Given the description of an element on the screen output the (x, y) to click on. 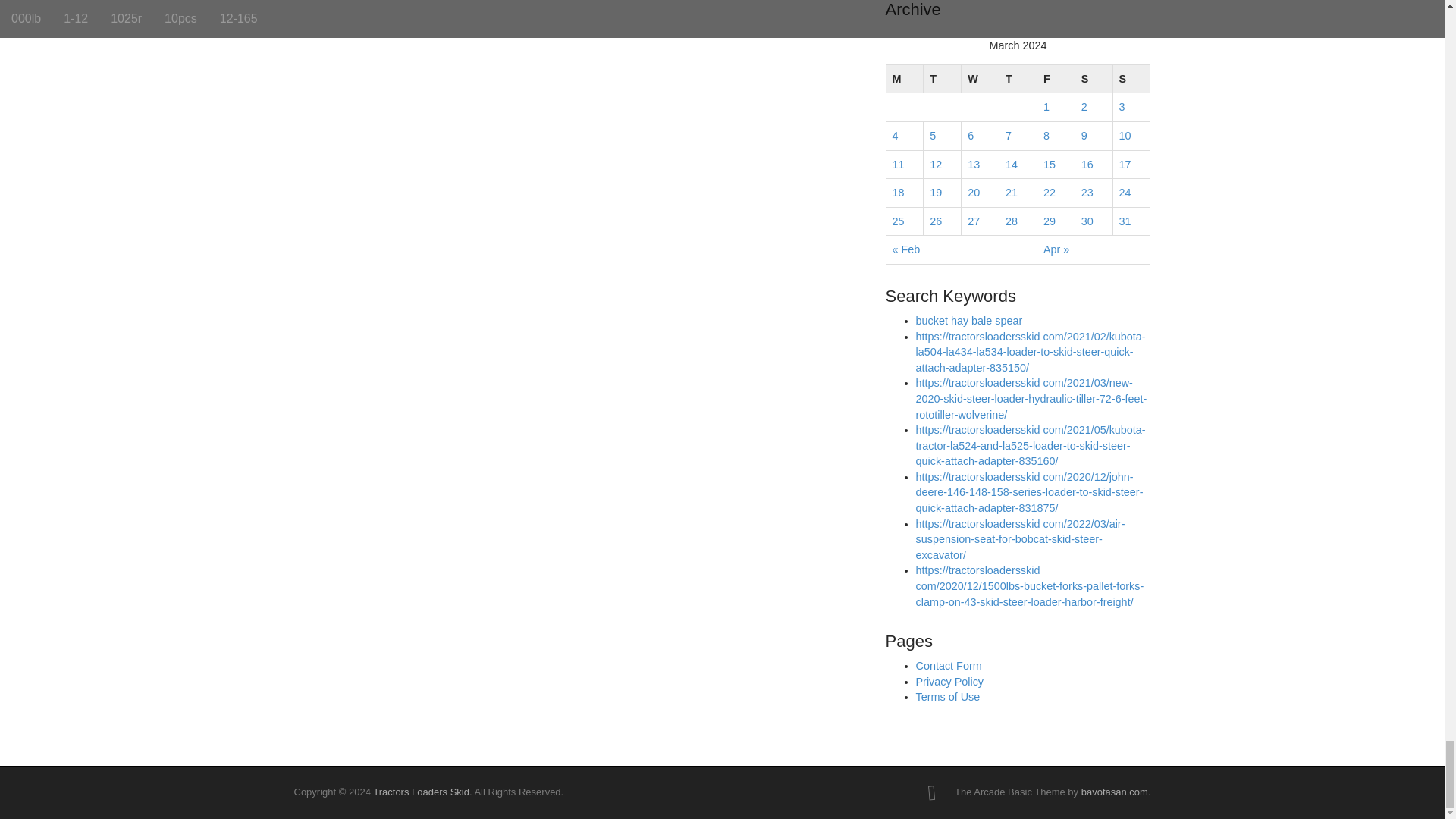
Tuesday (941, 78)
Saturday (1093, 78)
Monday (904, 78)
Wednesday (979, 78)
Thursday (1017, 78)
Friday (1055, 78)
